Given the description of an element on the screen output the (x, y) to click on. 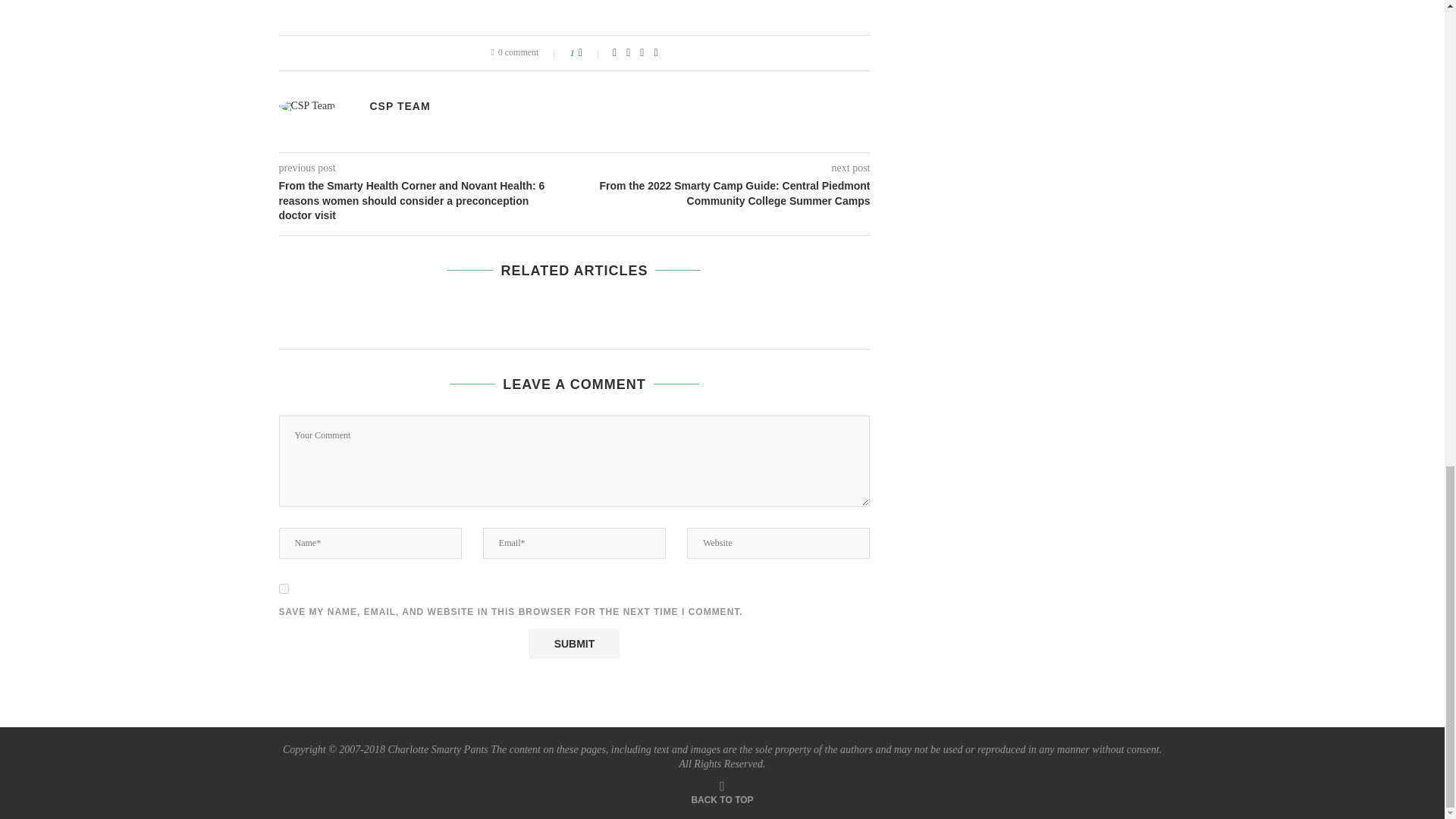
Submit (574, 643)
Posts by CSP Team (399, 105)
Like (590, 52)
yes (283, 588)
